Given the description of an element on the screen output the (x, y) to click on. 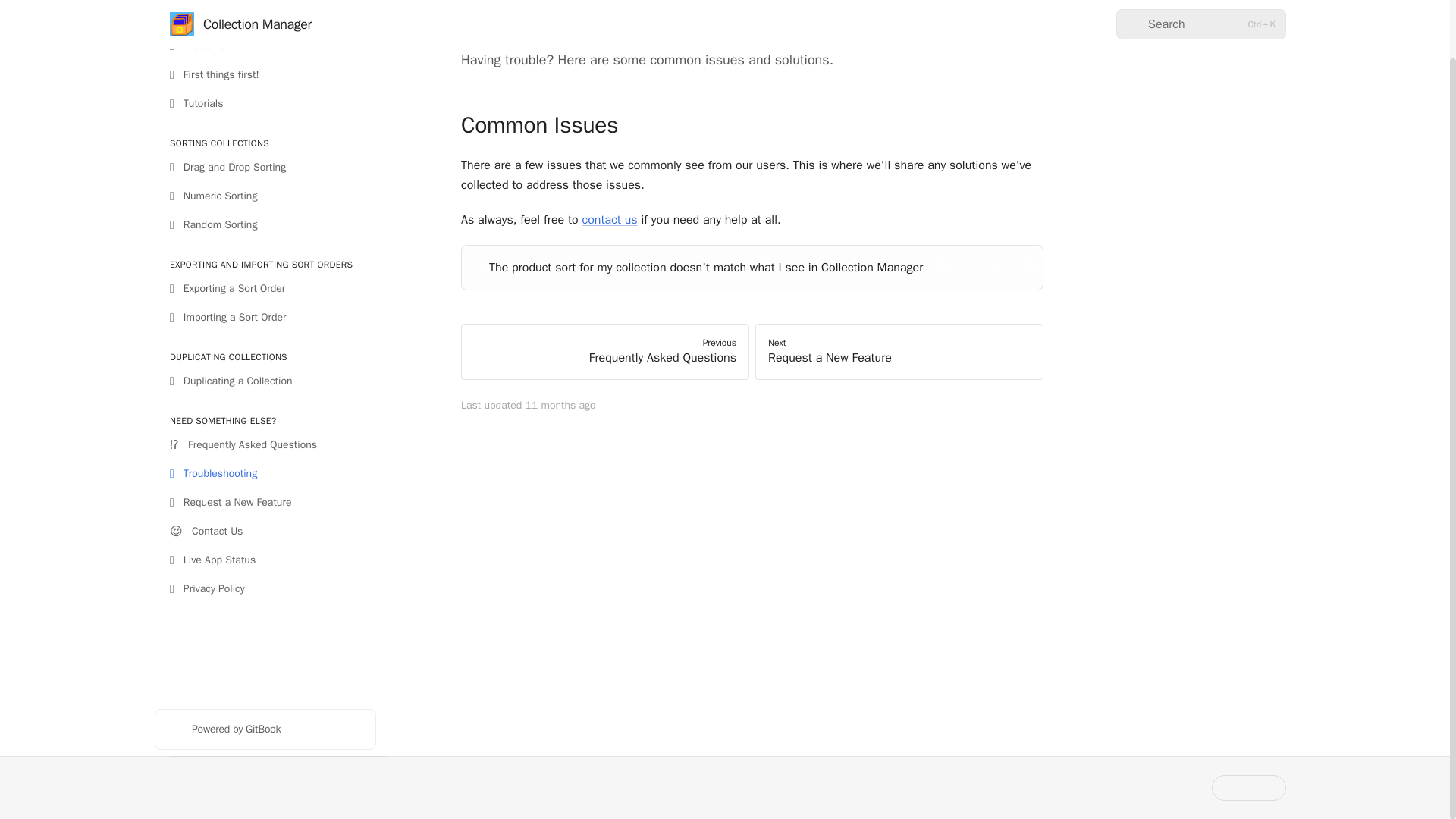
Powered by GitBook (264, 729)
contact us (899, 351)
